Given the description of an element on the screen output the (x, y) to click on. 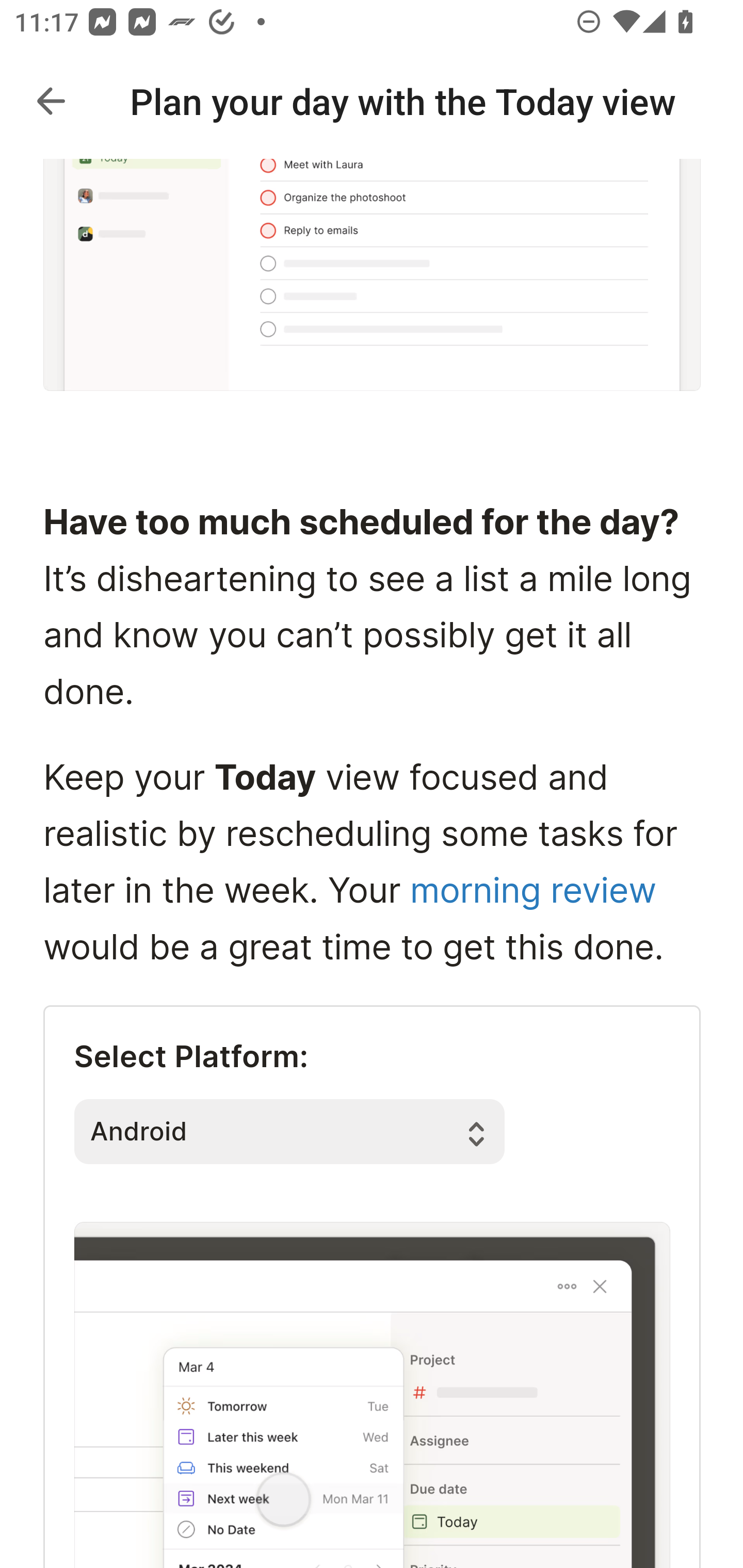
Navigate up (50, 101)
priorities-web.png (372, 275)
morning review (532, 892)
Android (289, 1131)
clearup-day-web.png (371, 1393)
